Given the description of an element on the screen output the (x, y) to click on. 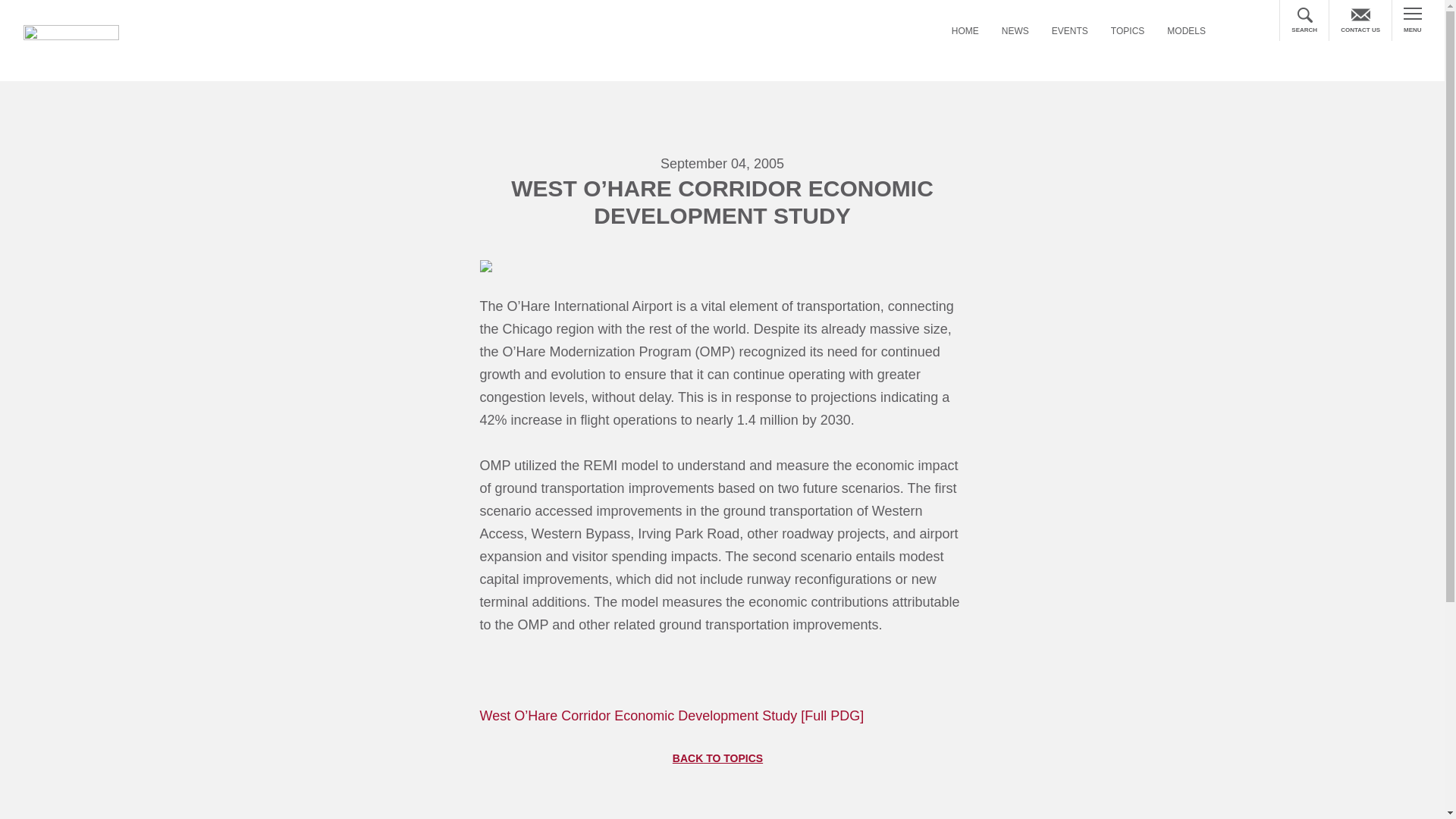
TOPICS (1127, 32)
Search (1328, 35)
SEARCH (1304, 20)
EVENTS (1069, 32)
BACK TO TOPICS (721, 758)
MODELS (1186, 32)
CONTACT US (1360, 20)
HOME (965, 32)
NEWS (1015, 32)
